Given the description of an element on the screen output the (x, y) to click on. 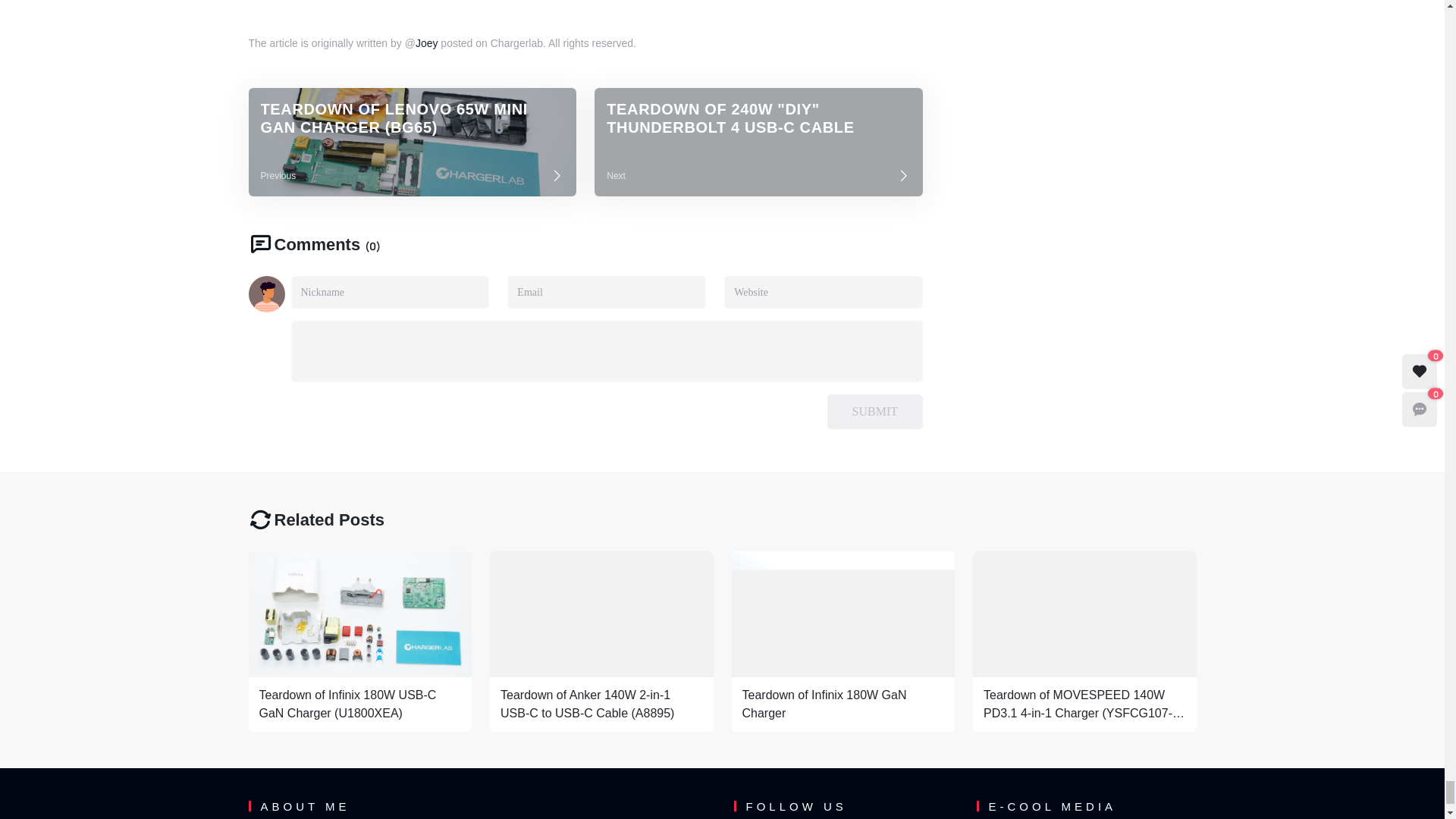
Submit (875, 411)
Posts by Joey (426, 42)
Teardown of 240W  (758, 141)
